Given the description of an element on the screen output the (x, y) to click on. 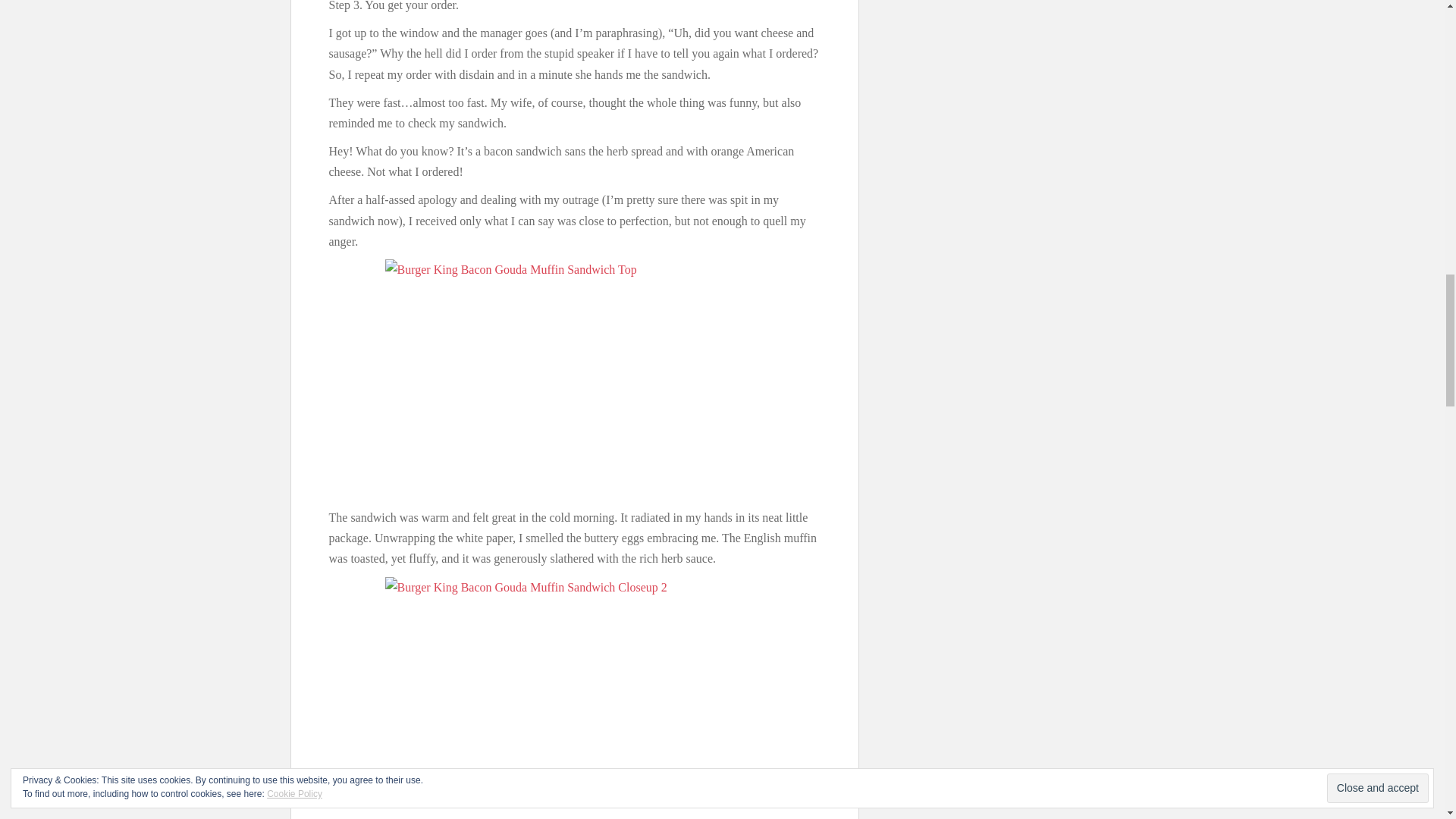
Burger King Bacon Gouda Muffin Sandwich Closeup 2 (574, 691)
Burger King Bacon Gouda Muffin Sandwich Top (574, 379)
